Given the description of an element on the screen output the (x, y) to click on. 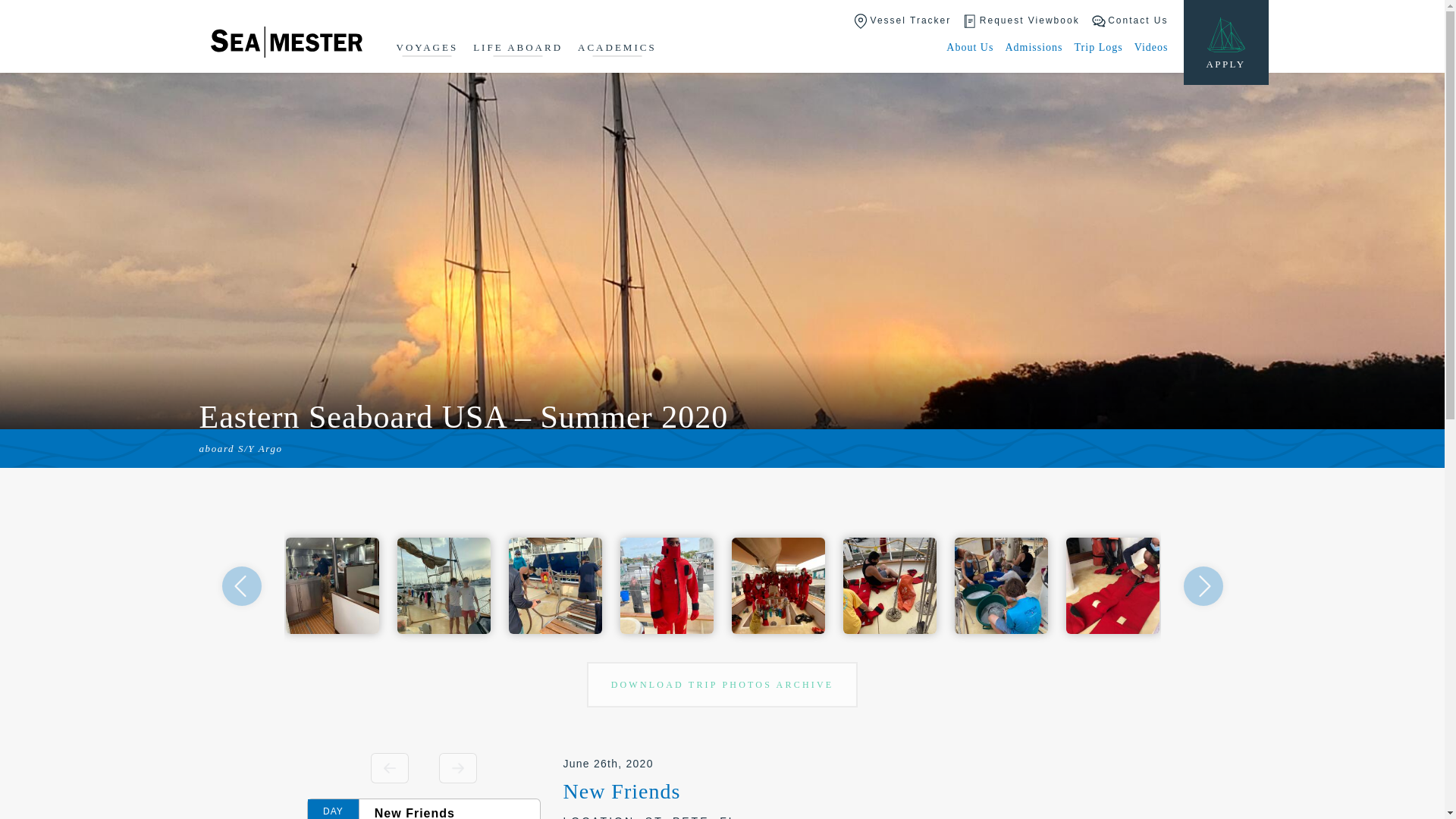
Admissions (1033, 47)
About Us (969, 47)
Contact Us (1129, 20)
Trip Logs (1098, 47)
Videos (1151, 47)
VOYAGES (427, 48)
Vessel Tracker (901, 20)
LIFE ABOARD (517, 48)
Request Viewbook (1020, 20)
ACADEMICS (617, 48)
APPLY (1225, 42)
